Given the description of an element on the screen output the (x, y) to click on. 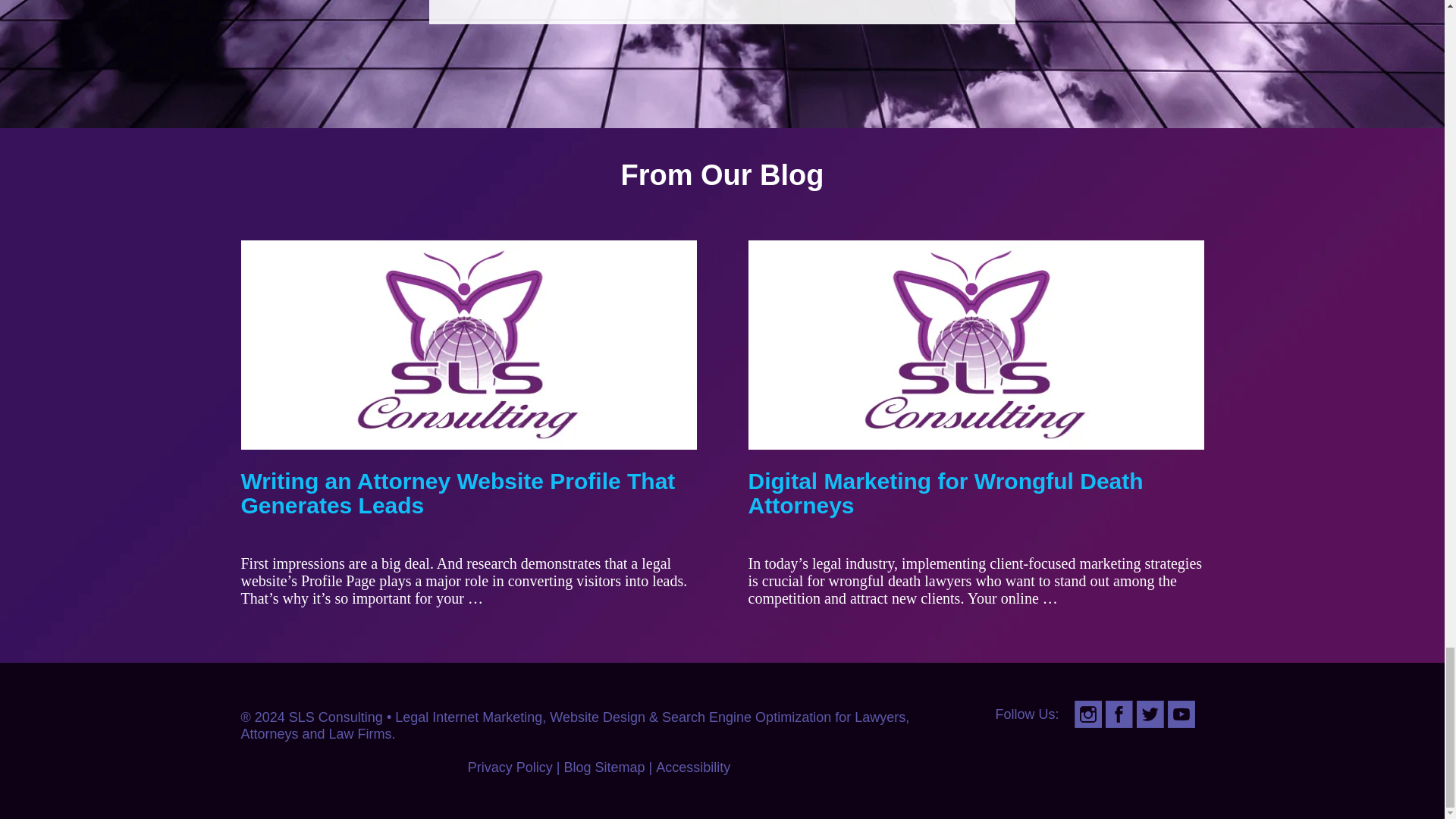
Digital Marketing for Wrongful Death Attorneys (945, 492)
Writing an Attorney Website Profile That Generates Leads (458, 492)
